Given the description of an element on the screen output the (x, y) to click on. 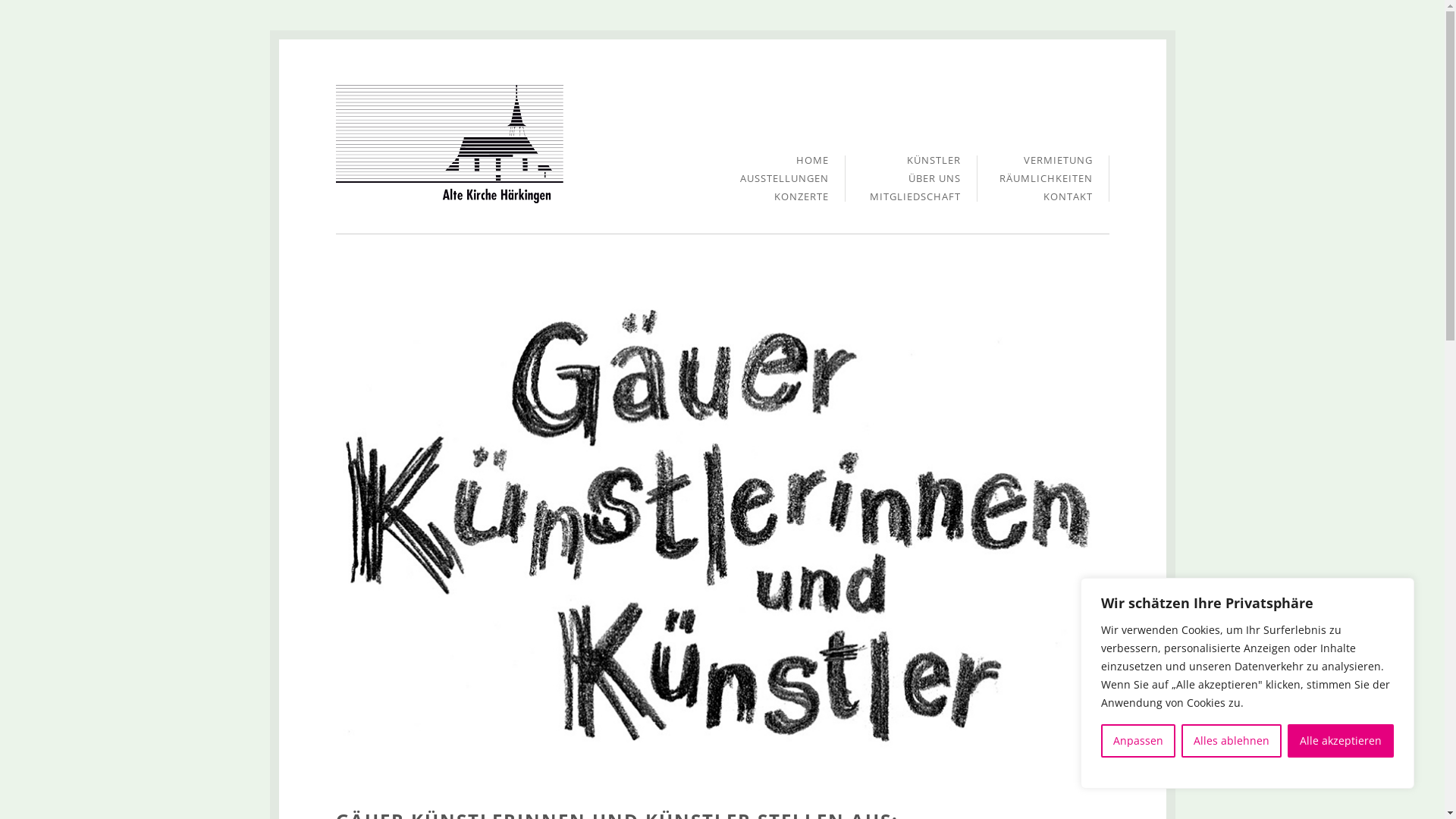
KONZERTE Element type: text (800, 196)
Anpassen Element type: text (1138, 740)
Alles ablehnen Element type: text (1231, 740)
KONTAKT Element type: text (1067, 196)
AUSSTELLUNGEN Element type: text (784, 182)
VERMIETUNG Element type: text (1057, 164)
Alle akzeptieren Element type: text (1340, 740)
MITGLIEDSCHAFT Element type: text (914, 196)
HOME Element type: text (812, 164)
